Given the description of an element on the screen output the (x, y) to click on. 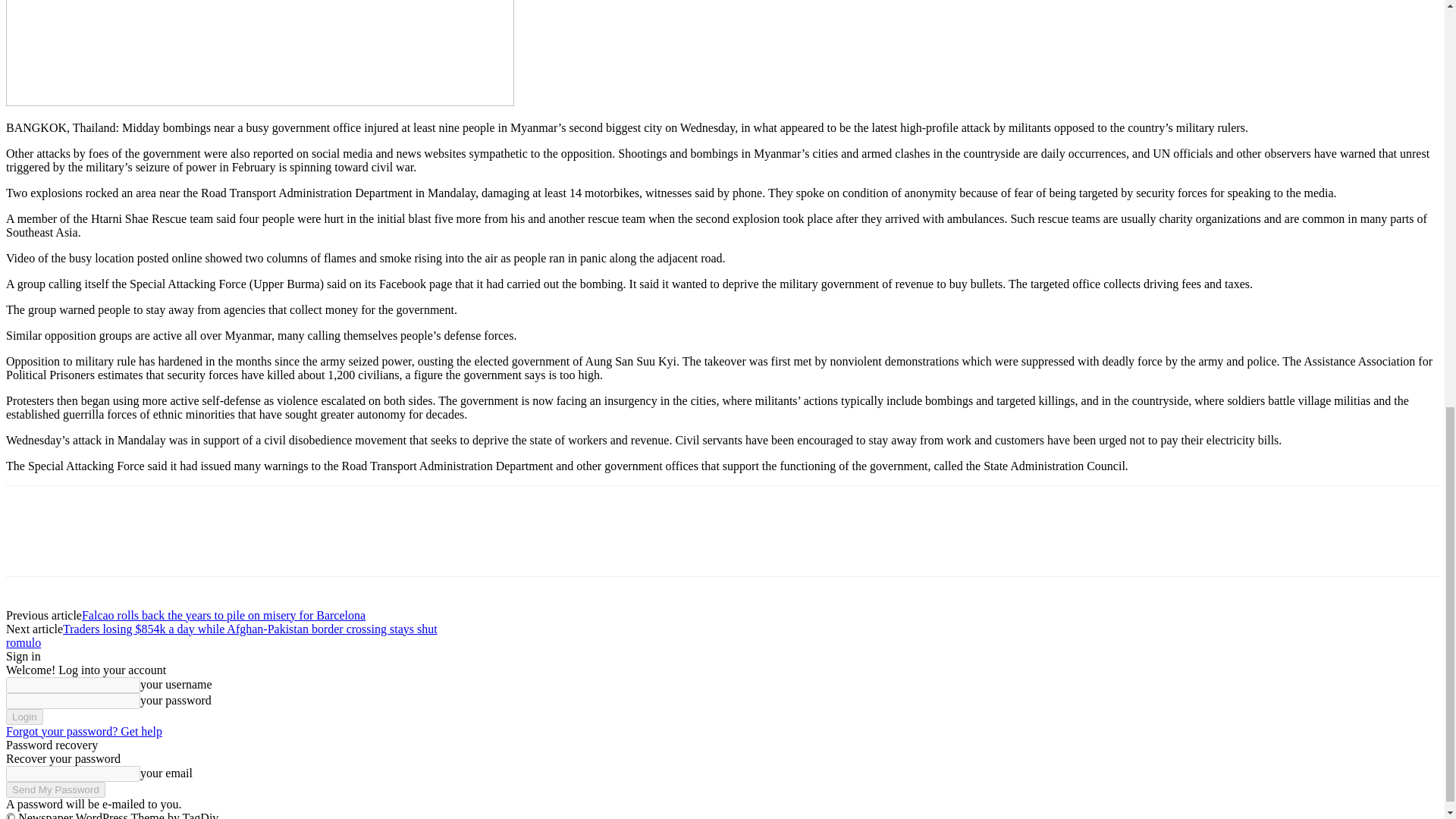
Bombing in Myanmar city highlights escalating violence (259, 53)
Falcao rolls back the years to pile on misery for Barcelona (223, 615)
Send My Password (54, 789)
Login (24, 716)
